Given the description of an element on the screen output the (x, y) to click on. 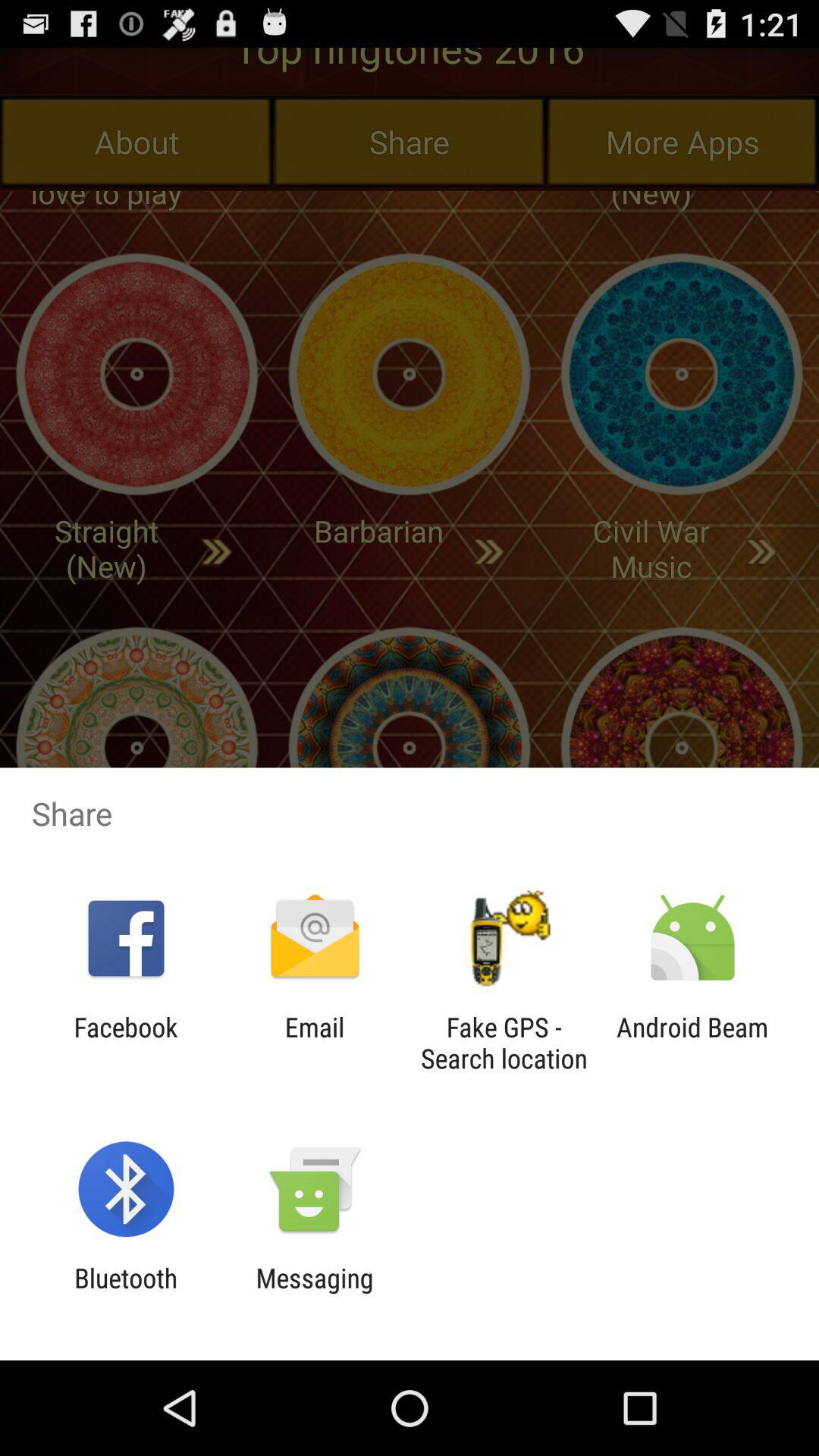
press facebook icon (125, 1042)
